Given the description of an element on the screen output the (x, y) to click on. 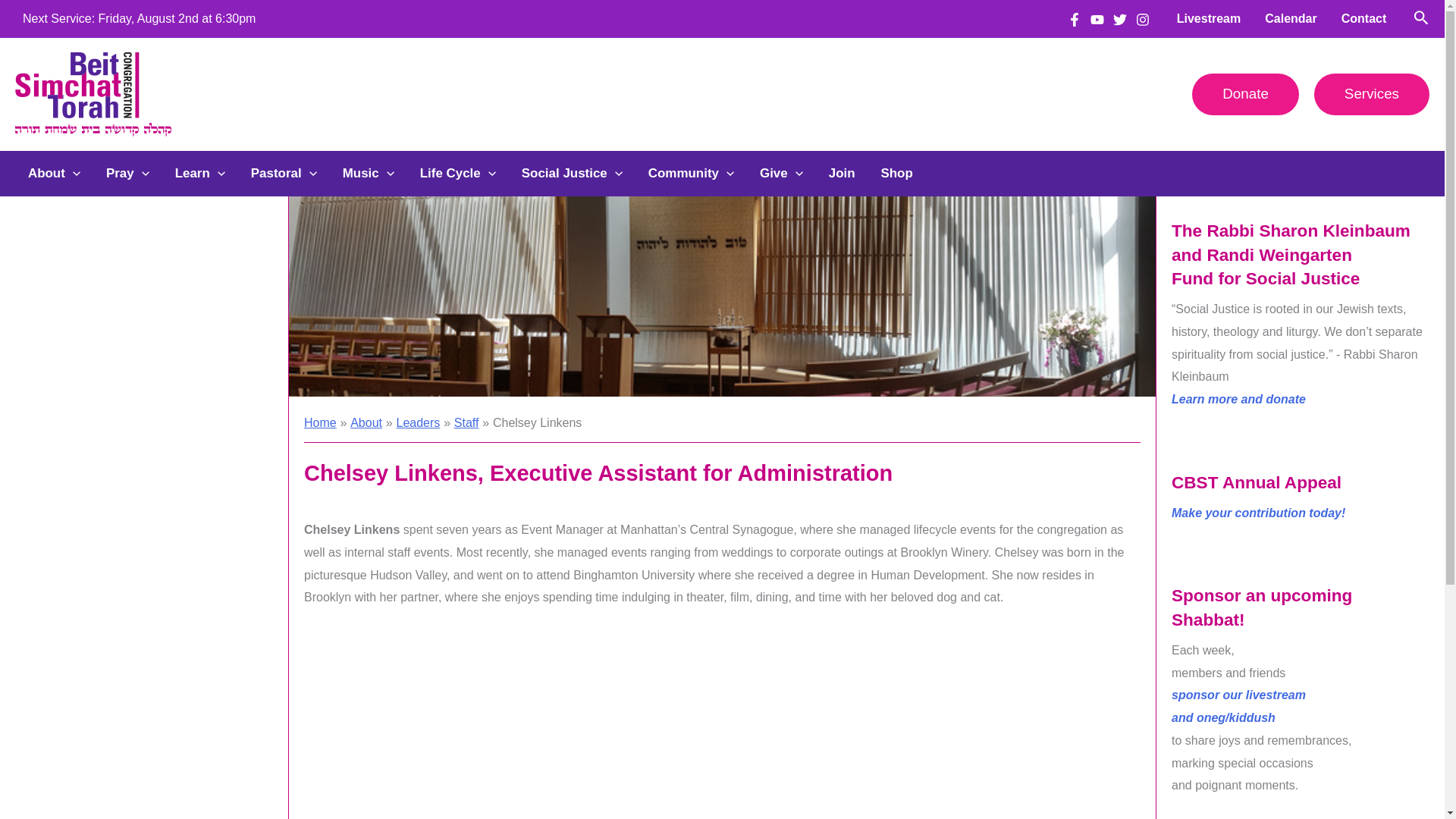
Services (1371, 94)
Donate (1245, 94)
About (53, 173)
Contact (1364, 18)
Livestream (1208, 18)
Next Service: Friday, August 2nd at 6:30pm (139, 18)
Calendar (1289, 18)
